Given the description of an element on the screen output the (x, y) to click on. 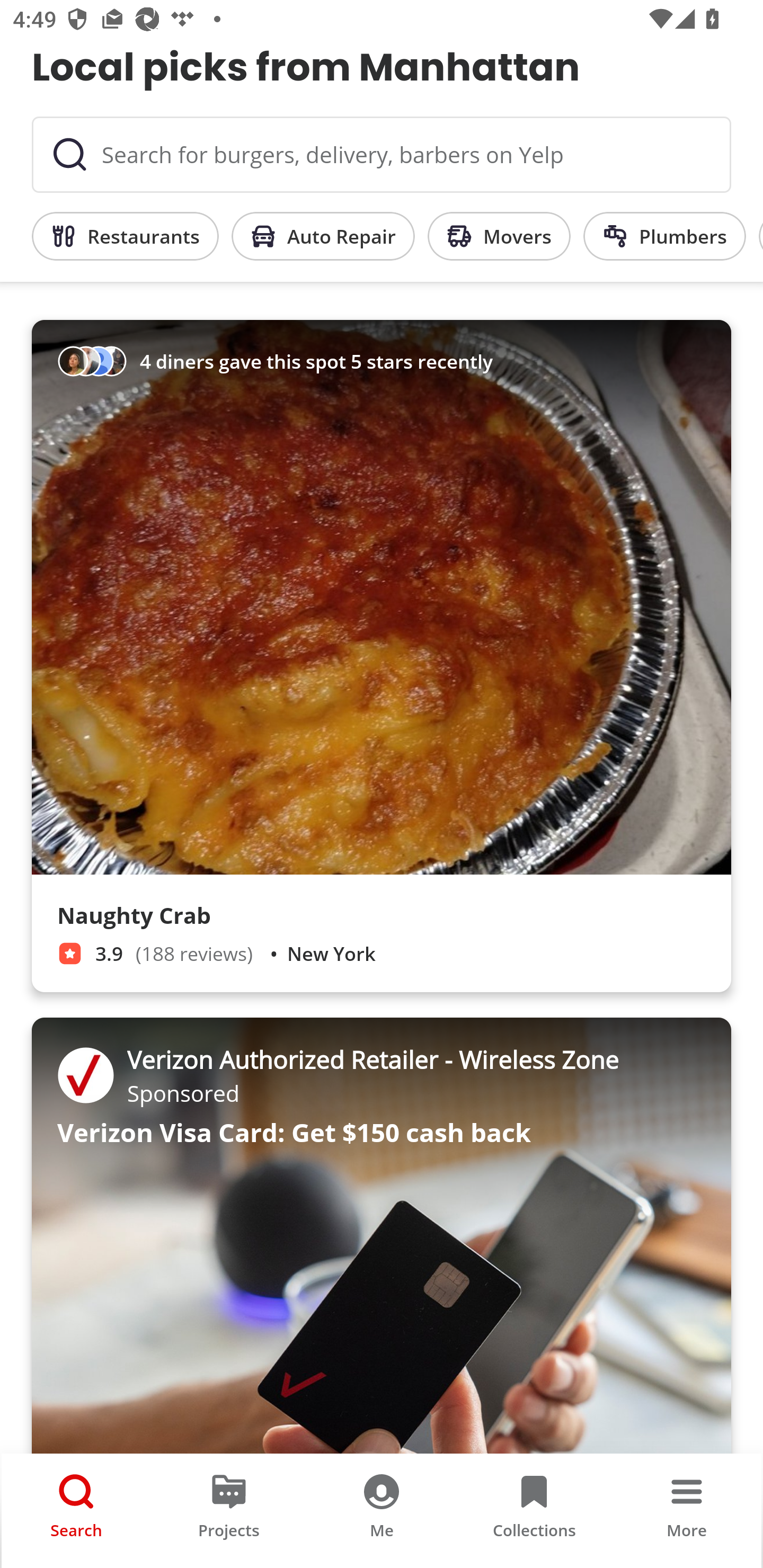
Search for burgers, delivery, barbers on Yelp (381, 154)
